Given the description of an element on the screen output the (x, y) to click on. 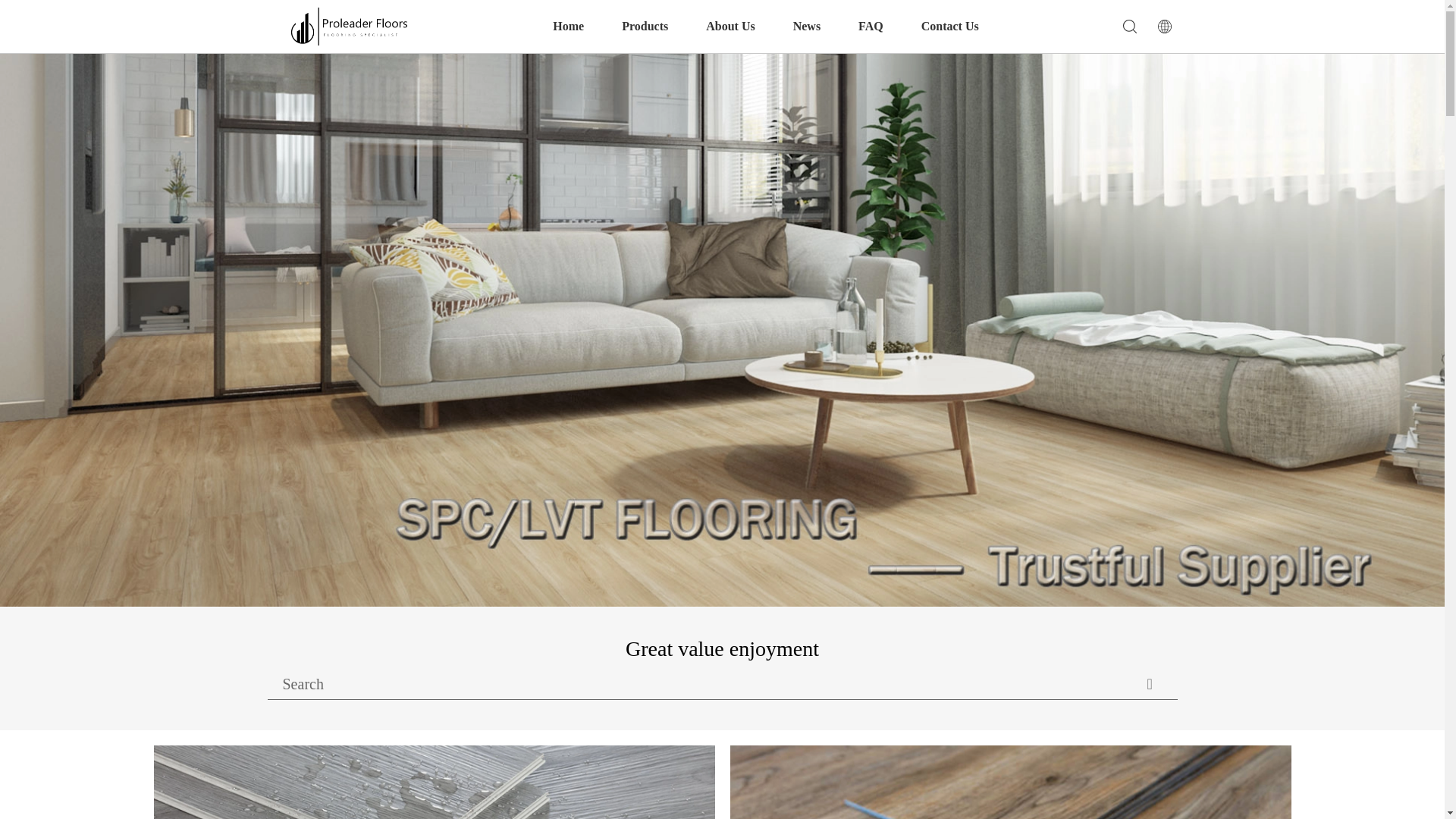
Contact Us (949, 27)
About Us (730, 27)
Products (644, 27)
FAQ (871, 27)
News (807, 27)
Home (568, 27)
